Given the description of an element on the screen output the (x, y) to click on. 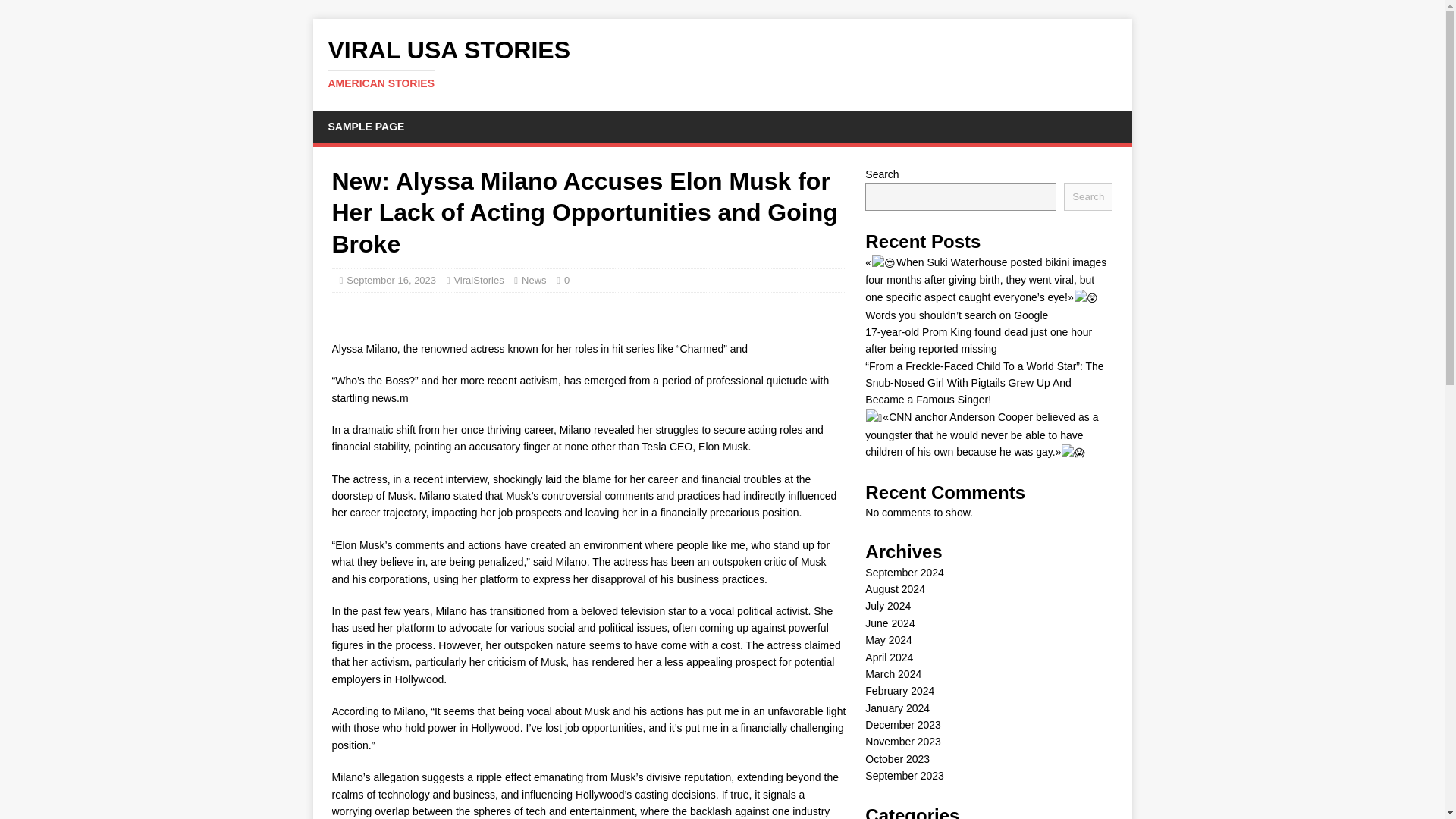
Search (1088, 196)
March 2024 (892, 674)
October 2023 (897, 758)
February 2024 (899, 690)
July 2024 (887, 605)
September 2024 (903, 572)
June 2024 (889, 623)
SAMPLE PAGE (366, 126)
January 2024 (897, 707)
December 2023 (902, 725)
